Given the description of an element on the screen output the (x, y) to click on. 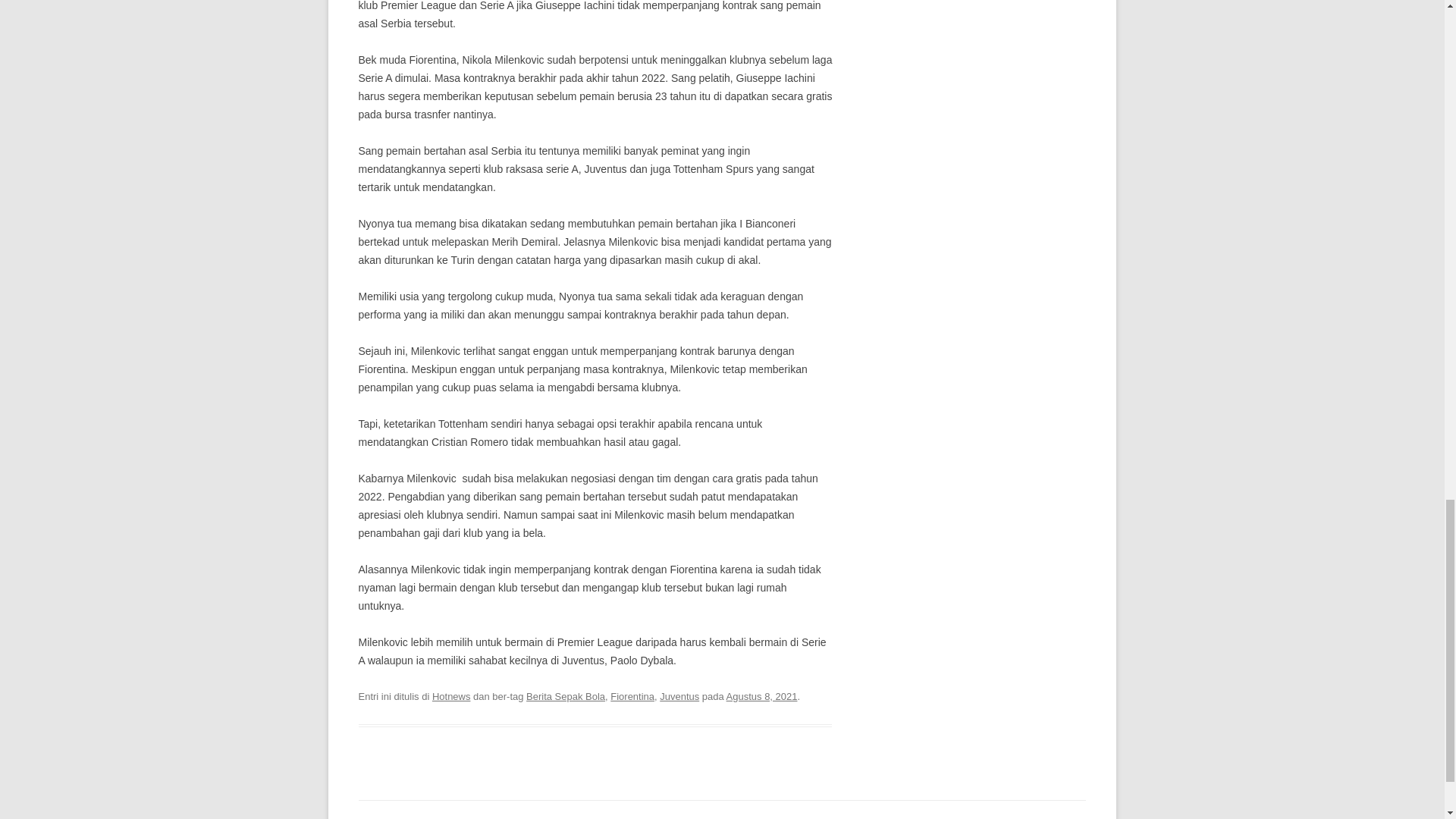
Fiorentina (631, 696)
Berita Sepak Bola (565, 696)
Agustus 8, 2021 (761, 696)
Juventus (678, 696)
Hotnews (451, 696)
3:53 am (761, 696)
